Given the description of an element on the screen output the (x, y) to click on. 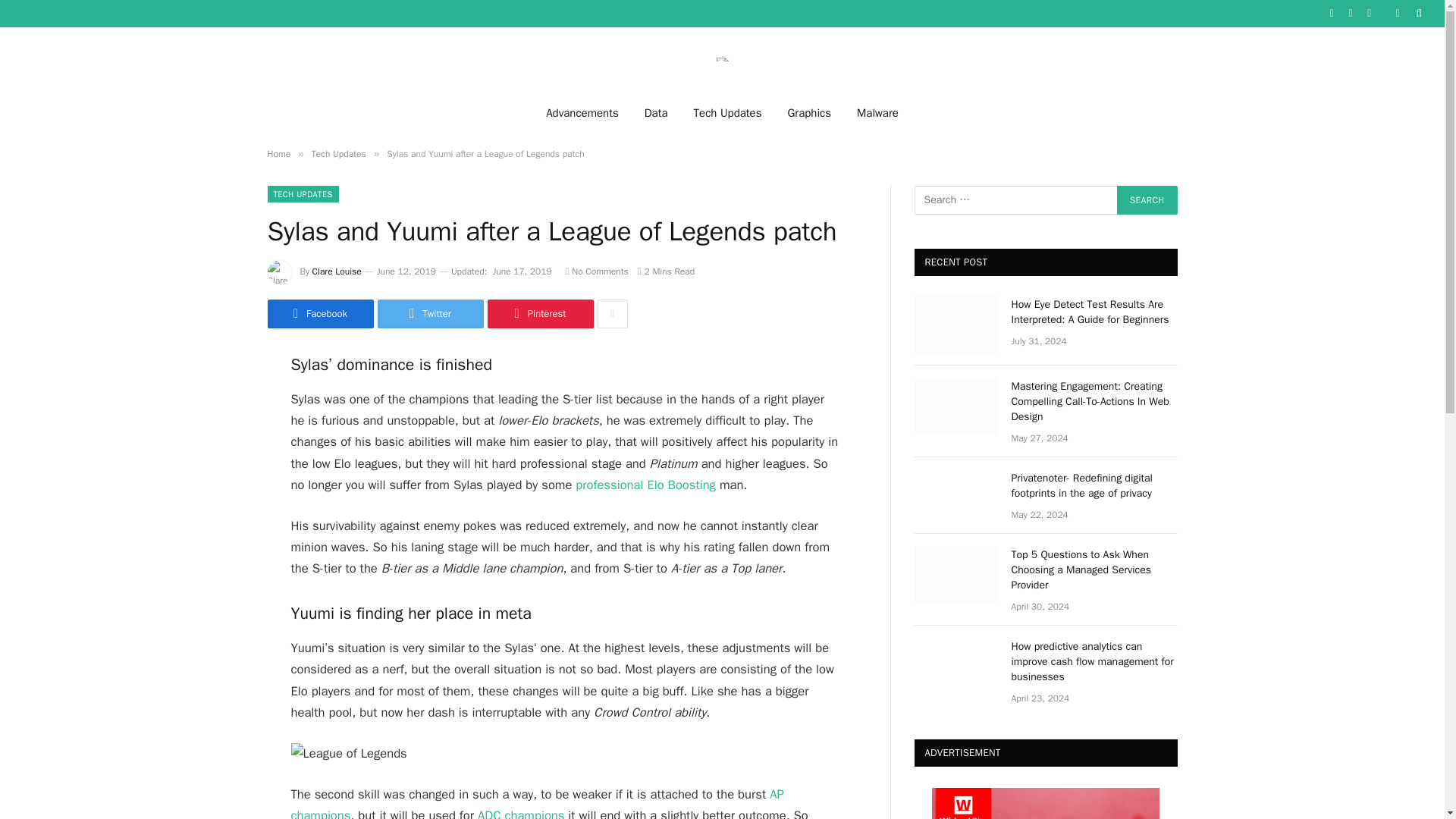
Pinterest (539, 313)
Share on Facebook (319, 313)
Tech Updates (727, 112)
Advancements (581, 112)
Share on Pinterest (539, 313)
Posts by Clare Louise (337, 271)
Search (1146, 199)
Home (277, 153)
Search (1146, 199)
professional Elo Boosting (645, 484)
